Given the description of an element on the screen output the (x, y) to click on. 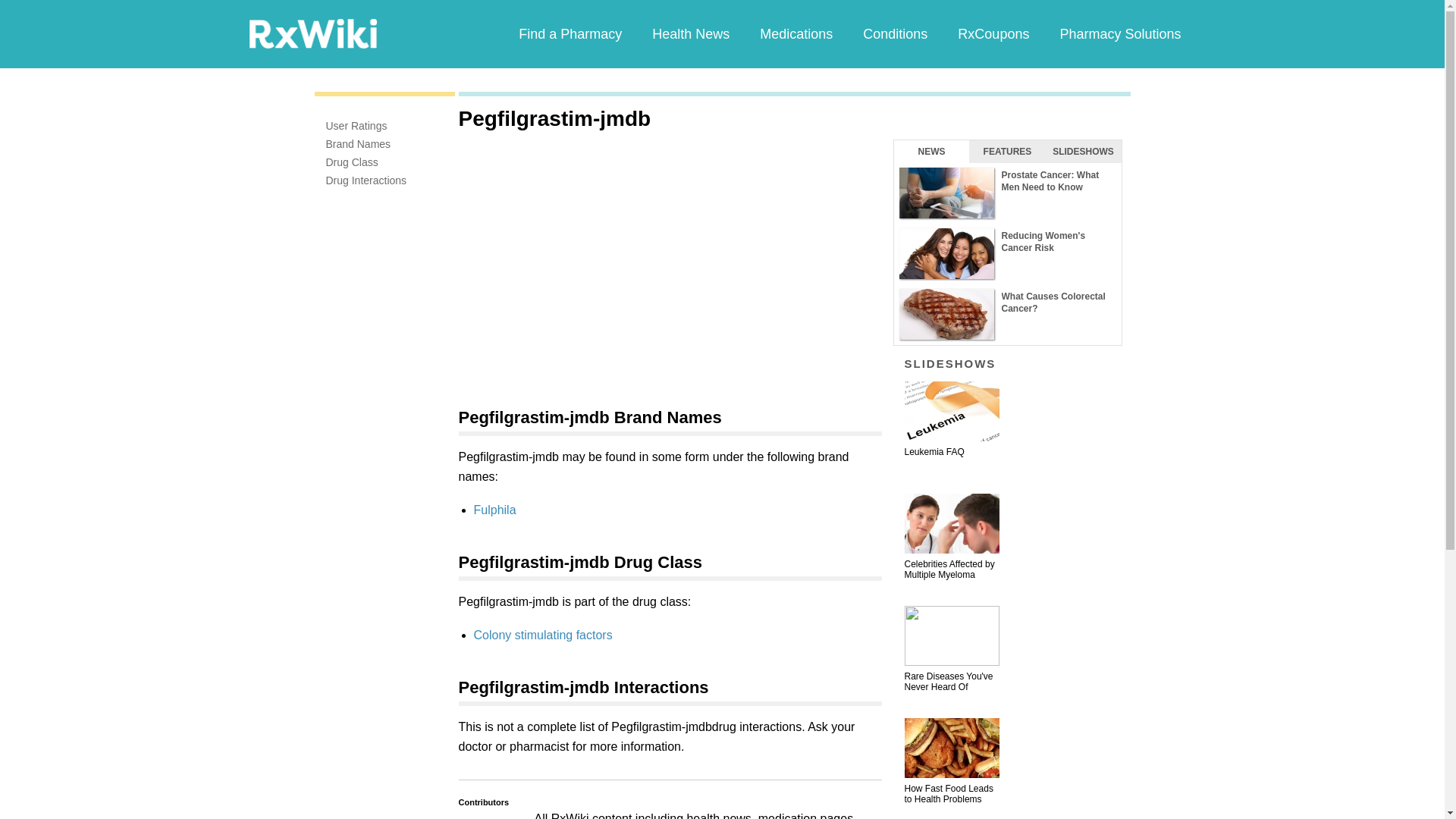
Brand Names (358, 143)
Drug Class (352, 162)
User Ratings (356, 125)
Medications (795, 33)
Drug Interactions (366, 180)
RxWiki (312, 32)
Conditions (894, 33)
Health News (690, 33)
FEATURES (1007, 151)
Reducing Women's Cancer Risk (1007, 253)
